Given the description of an element on the screen output the (x, y) to click on. 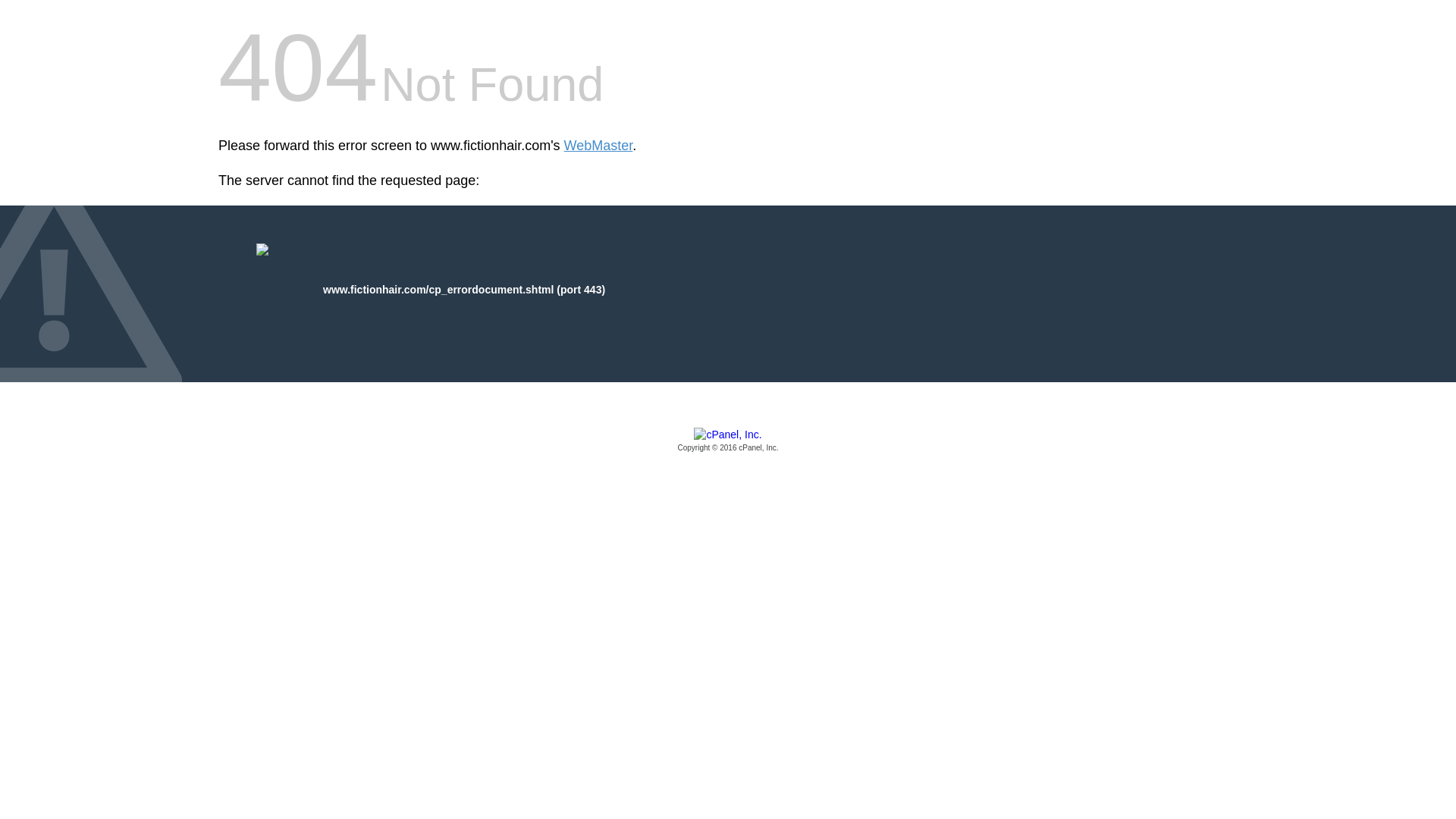
cPanel, Inc. (727, 440)
WebMaster (598, 145)
